Given the description of an element on the screen output the (x, y) to click on. 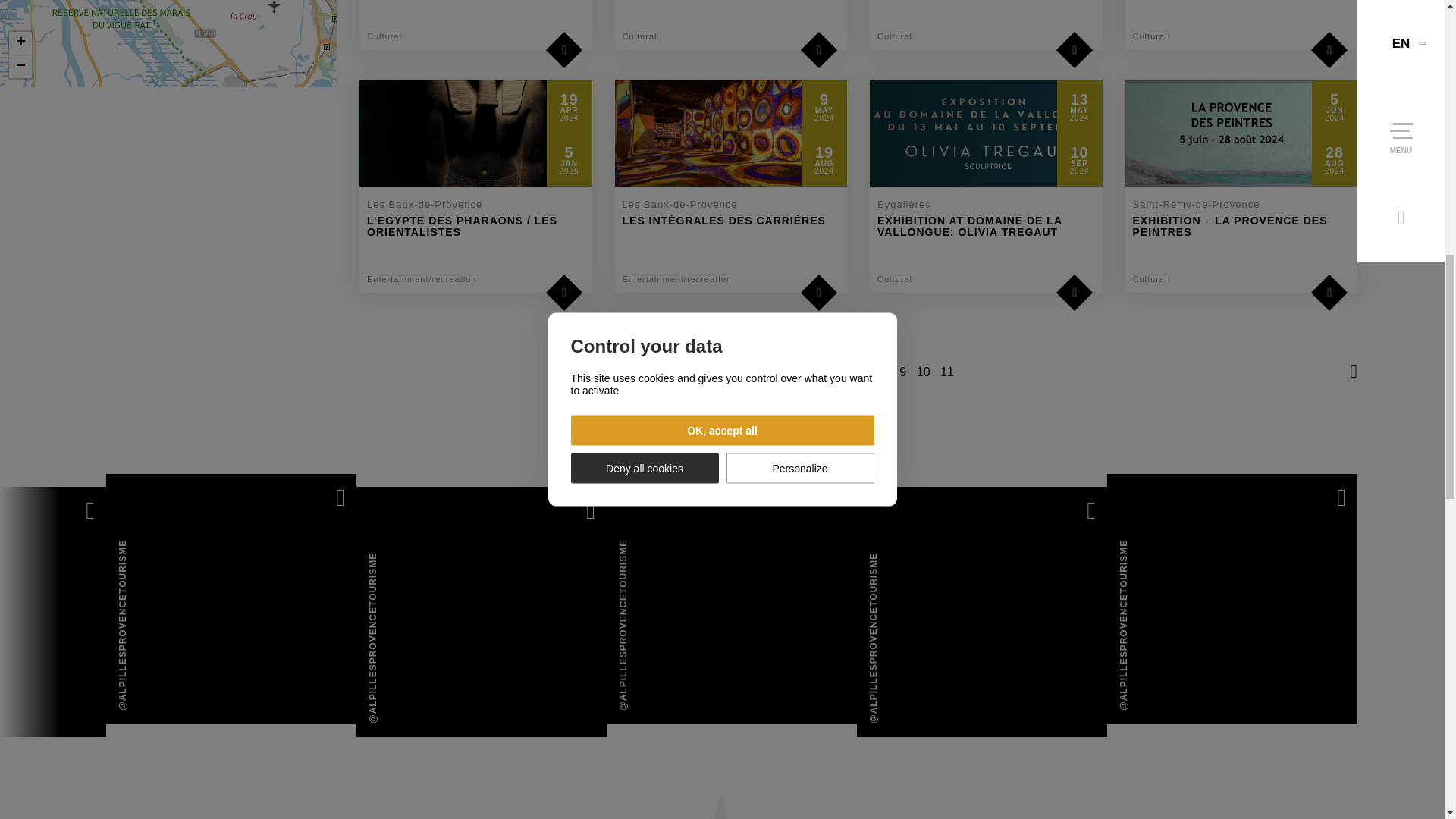
Zoom in (20, 43)
Zoom out (20, 66)
